Given the description of an element on the screen output the (x, y) to click on. 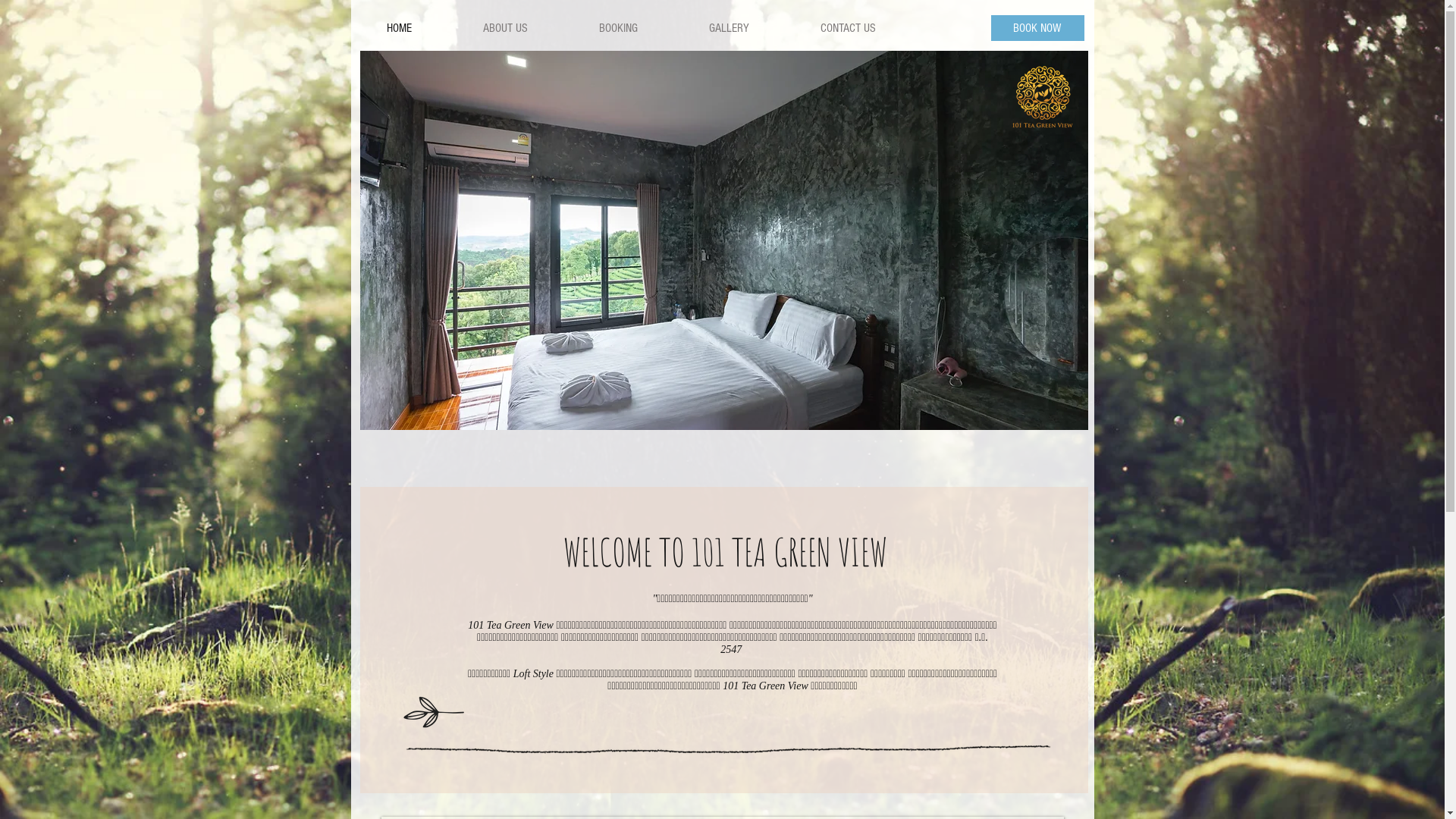
HOME Element type: text (398, 27)
BOOK NOW Element type: text (1036, 27)
CONTACT US Element type: text (847, 27)
BOOKING Element type: text (617, 27)
ABOUT US Element type: text (505, 27)
GALLERY Element type: text (728, 27)
